Given the description of an element on the screen output the (x, y) to click on. 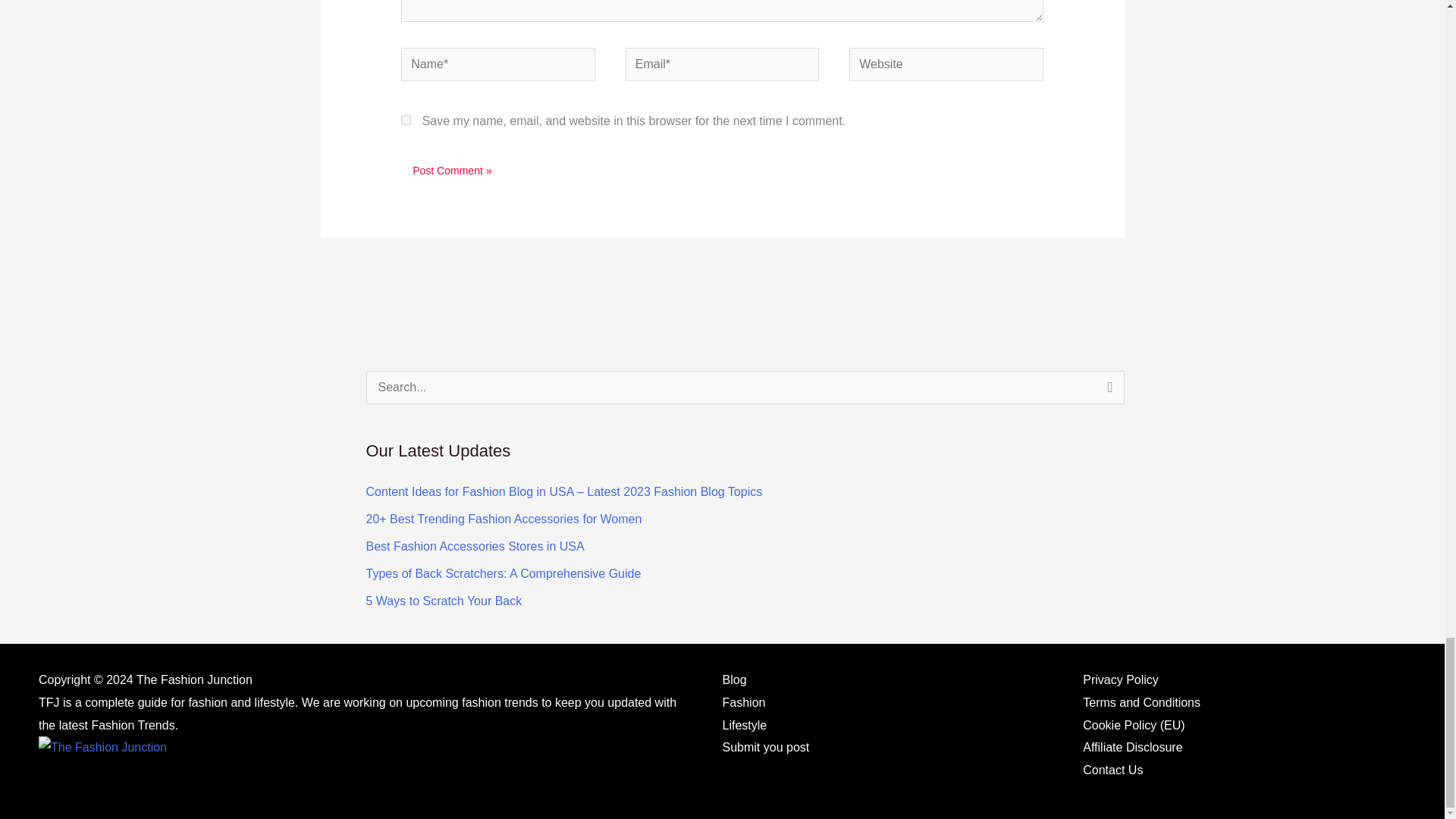
yes (405, 120)
